Given the description of an element on the screen output the (x, y) to click on. 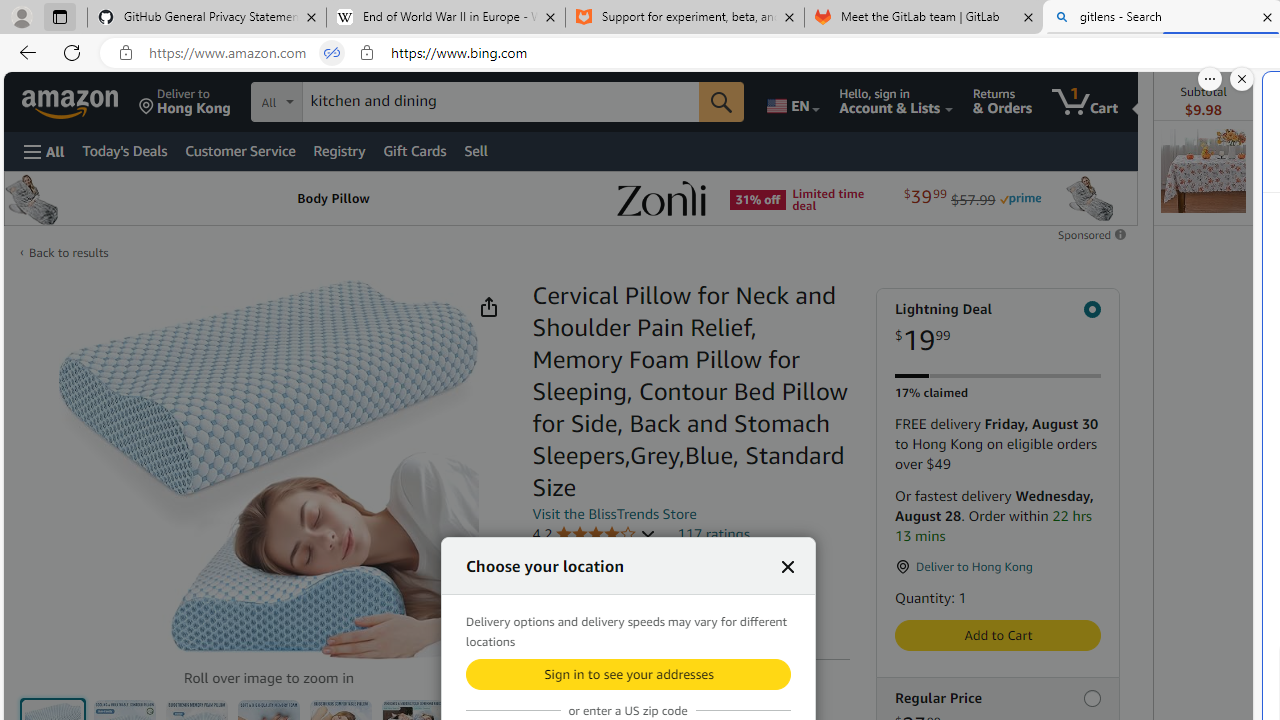
Back to results (68, 252)
Visit the BlissTrends Store (614, 513)
Add to Cart (997, 635)
Today's Deals (124, 150)
Hello, sign in Account & Lists (895, 101)
Returns & Orders (1001, 101)
More options. (1210, 79)
Tabs in split screen (331, 53)
Skip to main content (86, 100)
Search in (350, 102)
Sustainability features (542, 616)
Back to results (68, 251)
4.2 4.2 out of 5 stars (593, 534)
117 ratings (713, 533)
